Given the description of an element on the screen output the (x, y) to click on. 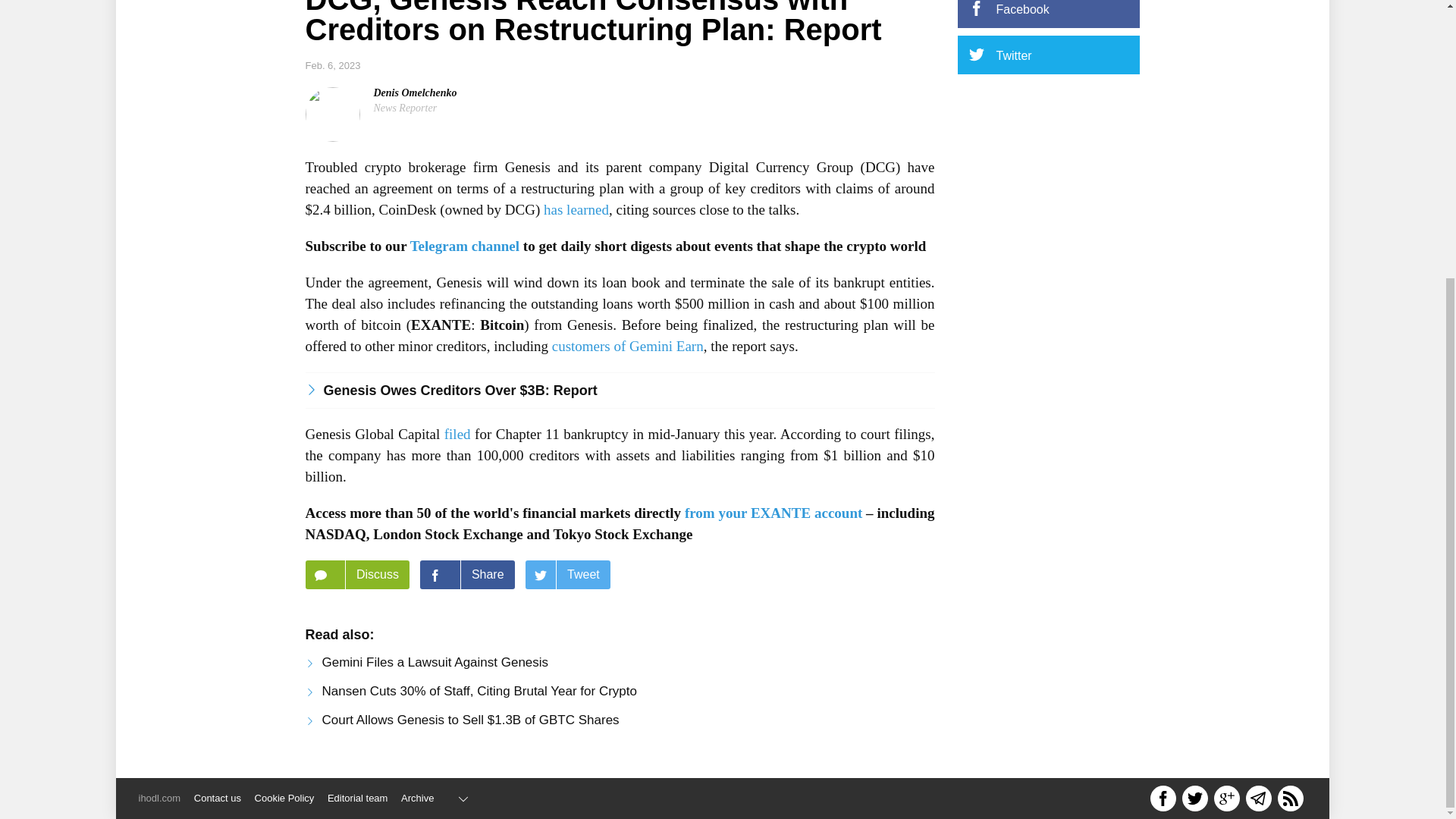
has learned (575, 209)
Denis Omelchenko (414, 92)
News Reporter (404, 107)
Telegram channel (464, 245)
